Given the description of an element on the screen output the (x, y) to click on. 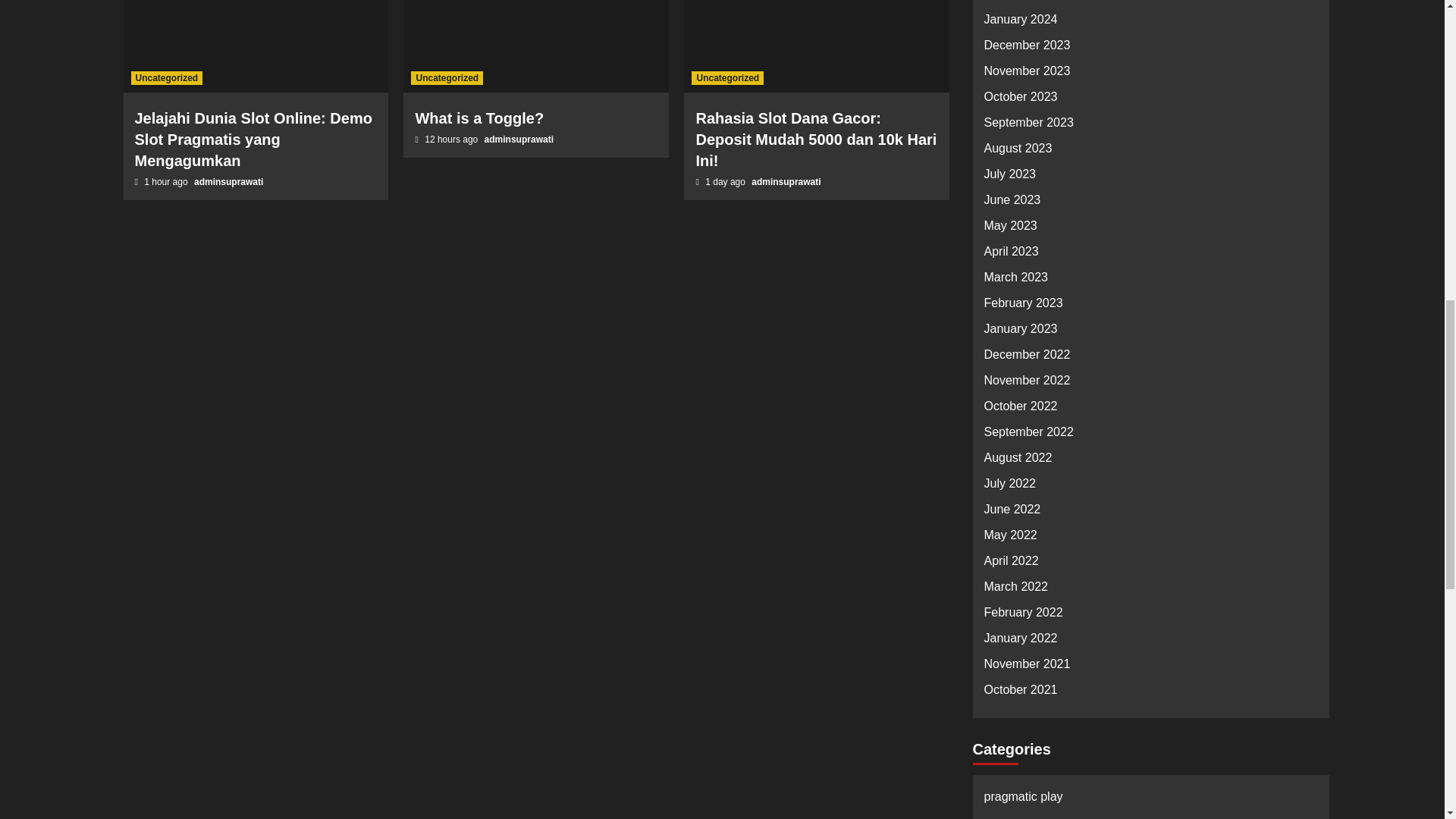
November 2023 (1150, 74)
October 2023 (1150, 100)
adminsuprawati (228, 181)
adminsuprawati (786, 181)
Uncategorized (446, 78)
What is a Toggle? (478, 117)
February 2024 (1150, 5)
December 2023 (1150, 49)
January 2024 (1150, 23)
Uncategorized (166, 78)
Uncategorized (726, 78)
adminsuprawati (518, 139)
